Given the description of an element on the screen output the (x, y) to click on. 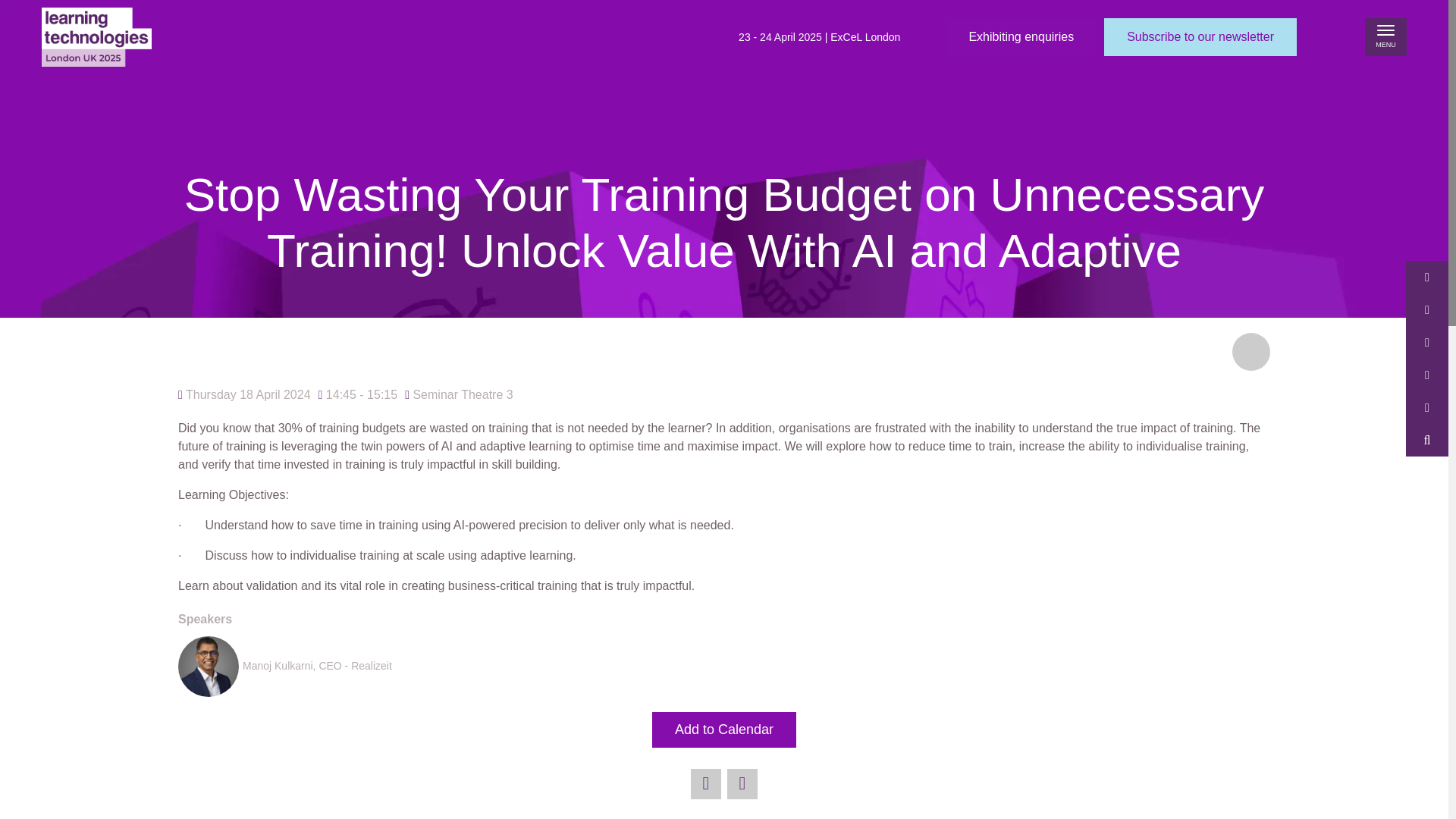
Exhibiting enquiries (1020, 37)
MENU (1385, 37)
Subscribe to our newsletter (1200, 37)
